Given the description of an element on the screen output the (x, y) to click on. 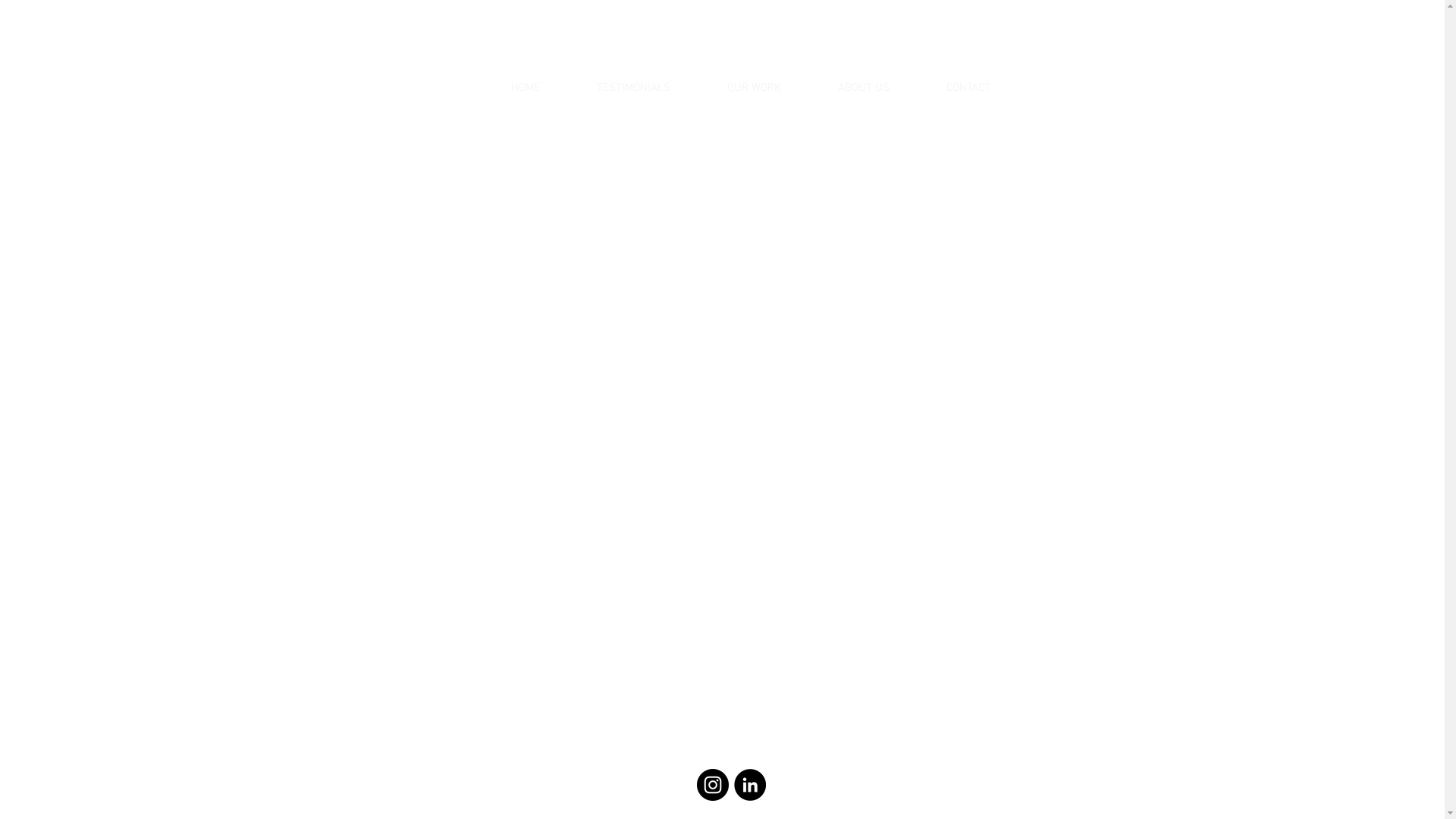
CONTACT Element type: text (967, 87)
OUR WORK Element type: text (754, 87)
ABOUT US Element type: text (863, 87)
HOME Element type: text (525, 87)
TESTIMONIALS Element type: text (633, 87)
